Given the description of an element on the screen output the (x, y) to click on. 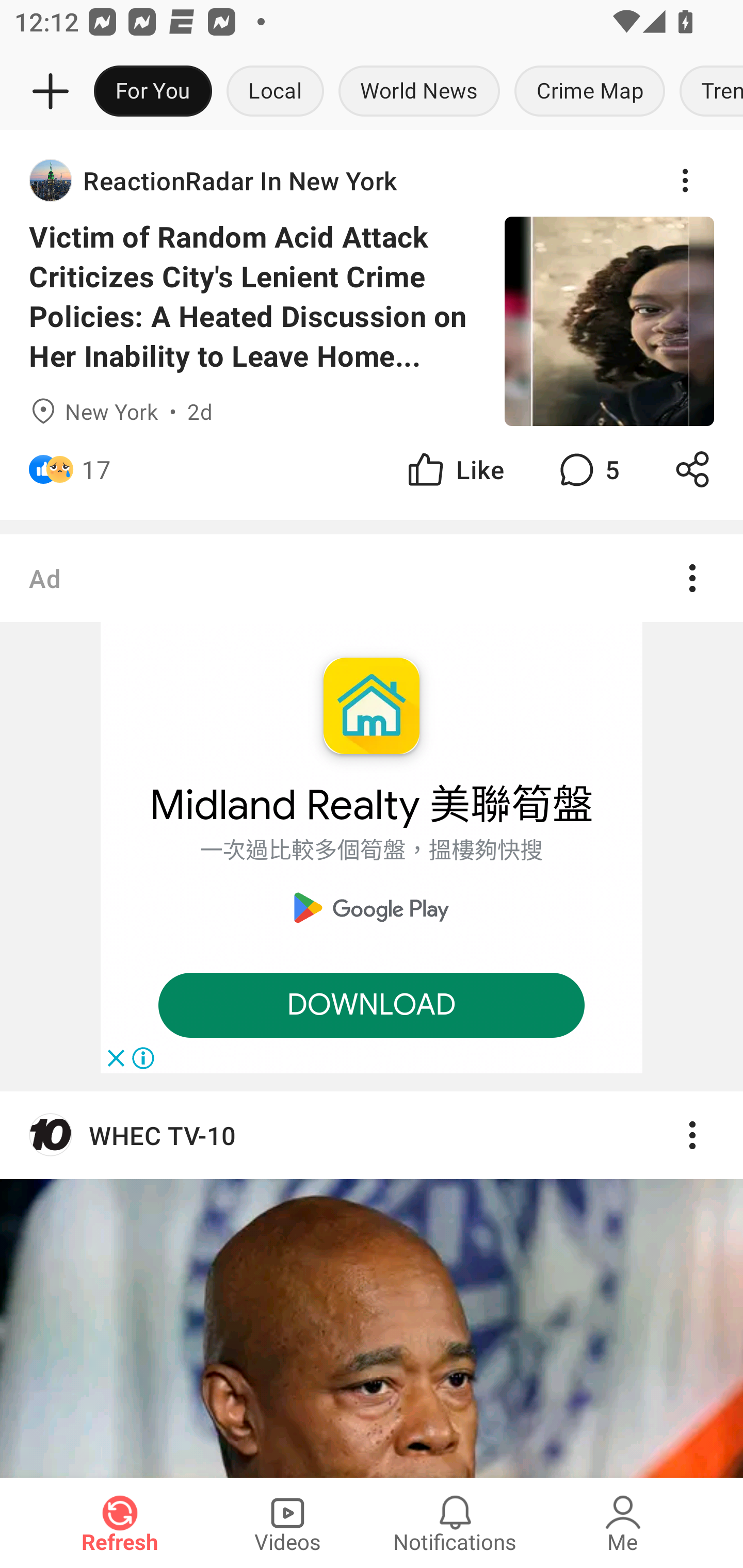
For You (152, 91)
Local (275, 91)
World News (419, 91)
Crime Map (589, 91)
17 (95, 469)
Like (454, 469)
5 (587, 469)
Midland Realty 美聯筍盤 (371, 805)
一次過比較多個筍盤，搵樓夠快搜 (371, 850)
DOWNLOAD (371, 1005)
WHEC TV-10 (371, 1284)
WHEC TV-10 (371, 1135)
Videos (287, 1522)
Notifications (455, 1522)
Me (622, 1522)
